Given the description of an element on the screen output the (x, y) to click on. 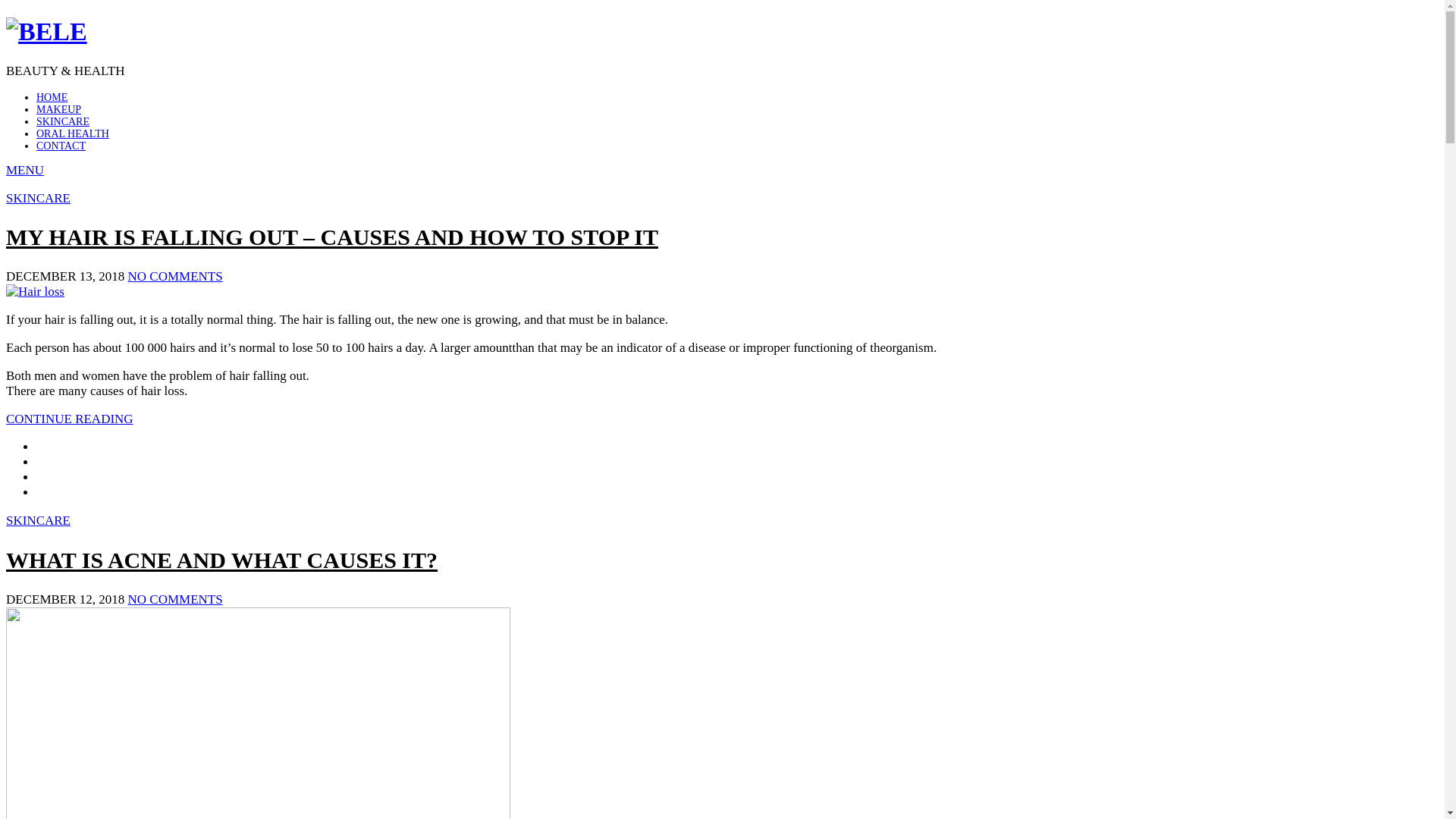
CONTACT Element type: text (60, 145)
CONTINUE READING Element type: text (69, 418)
MAKEUP Element type: text (58, 109)
SKINCARE Element type: text (62, 121)
ORAL HEALTH Element type: text (72, 133)
SKINCARE Element type: text (38, 198)
NO COMMENTS Element type: text (175, 599)
MENU Element type: text (24, 170)
HOME Element type: text (51, 97)
NO COMMENTS Element type: text (175, 276)
WHAT IS ACNE AND WHAT CAUSES IT? Element type: text (221, 559)
SKINCARE Element type: text (38, 520)
